Given the description of an element on the screen output the (x, y) to click on. 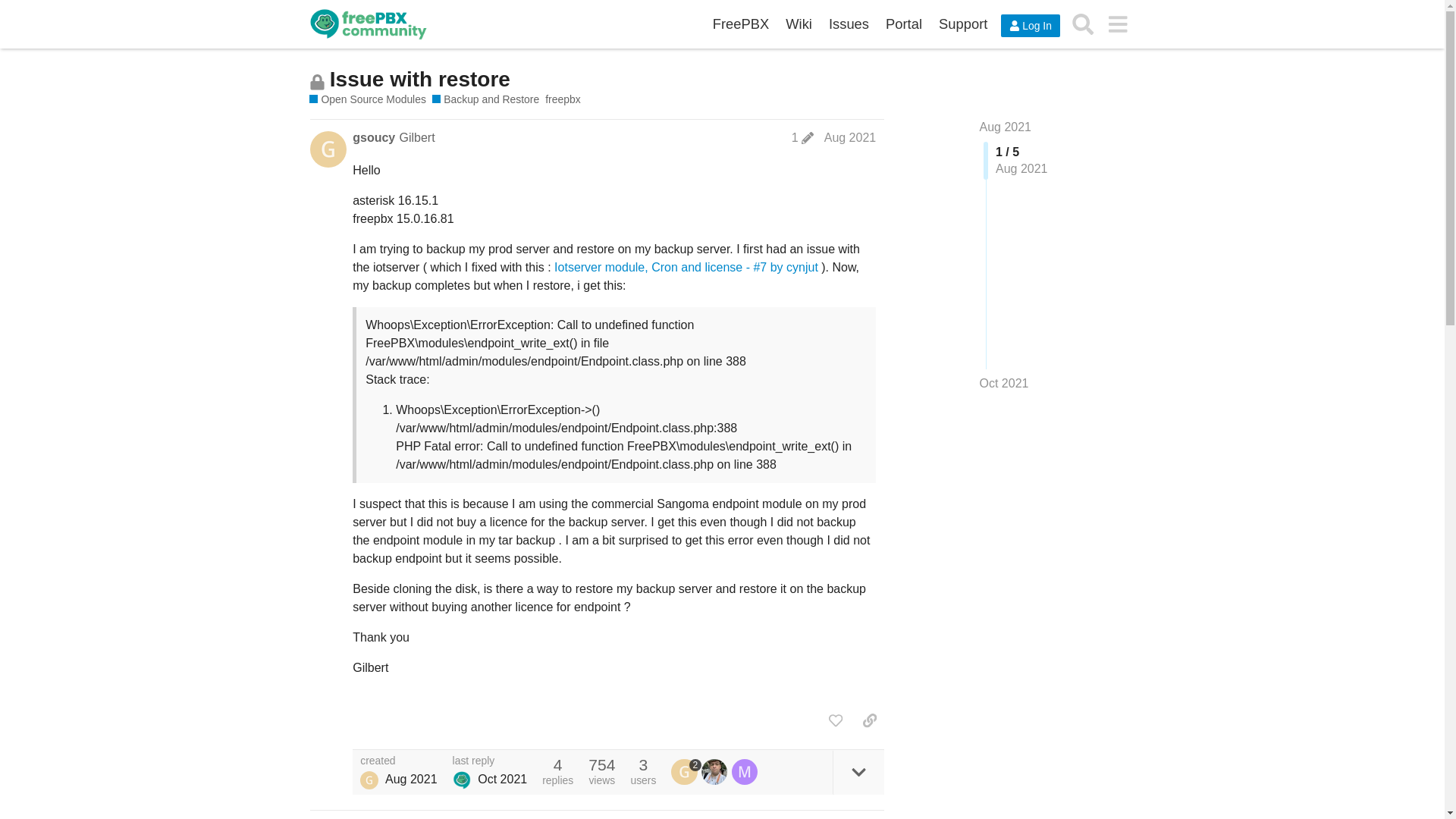
Backup and Restore (485, 99)
2 (686, 771)
freepbx (561, 99)
Open Source Modules (367, 99)
Oct 8, 2021 5:54 am (1004, 382)
FreePBX (740, 23)
For specific open source modules. (367, 99)
Issues (849, 23)
Wiki (799, 23)
like this post (835, 720)
Issues (849, 23)
gsoucy (373, 137)
Aug 2021 (850, 137)
Log In (1030, 25)
menu (1117, 23)
